Given the description of an element on the screen output the (x, y) to click on. 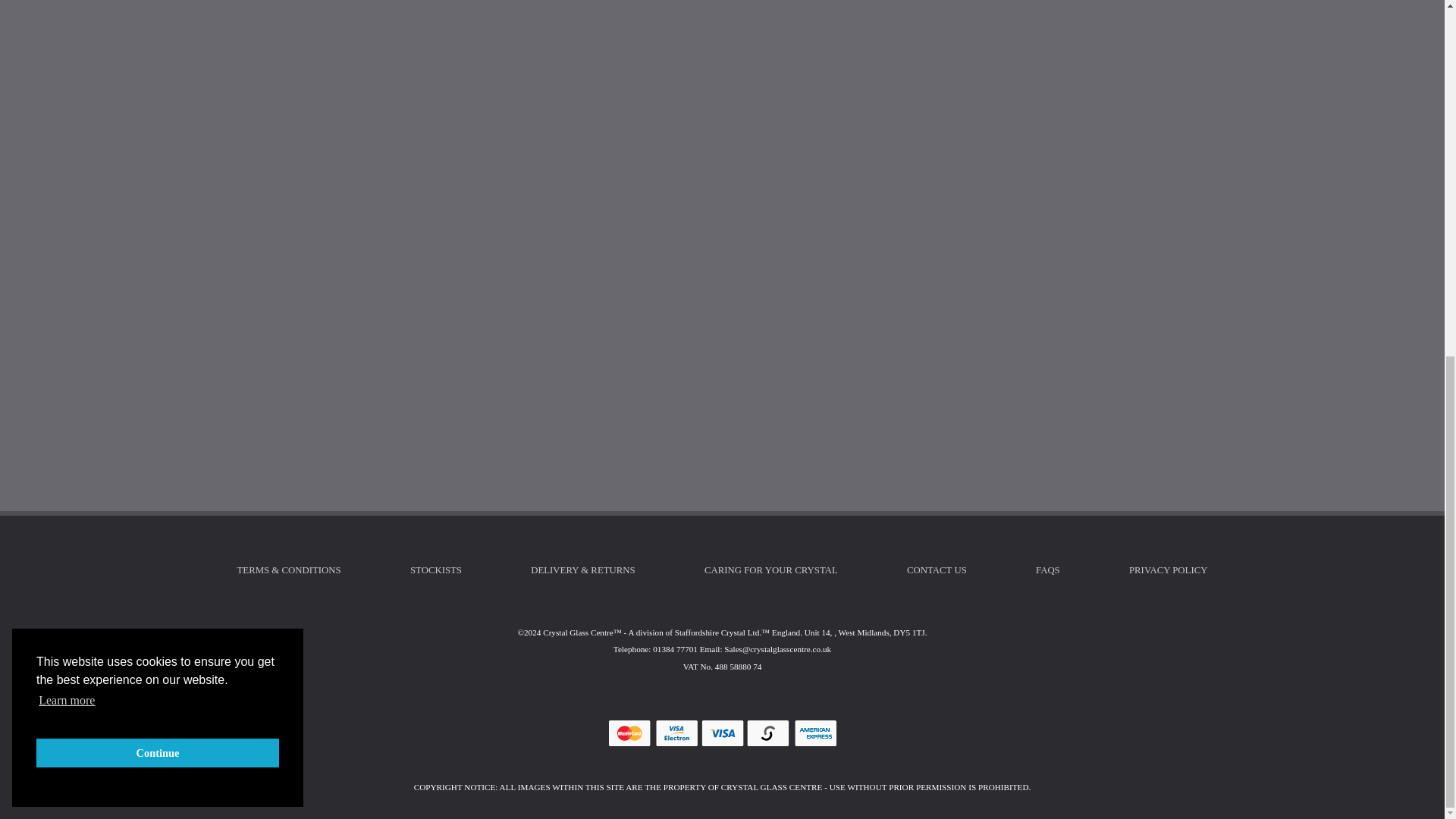
Continue (157, 127)
Learn more (66, 74)
